Given the description of an element on the screen output the (x, y) to click on. 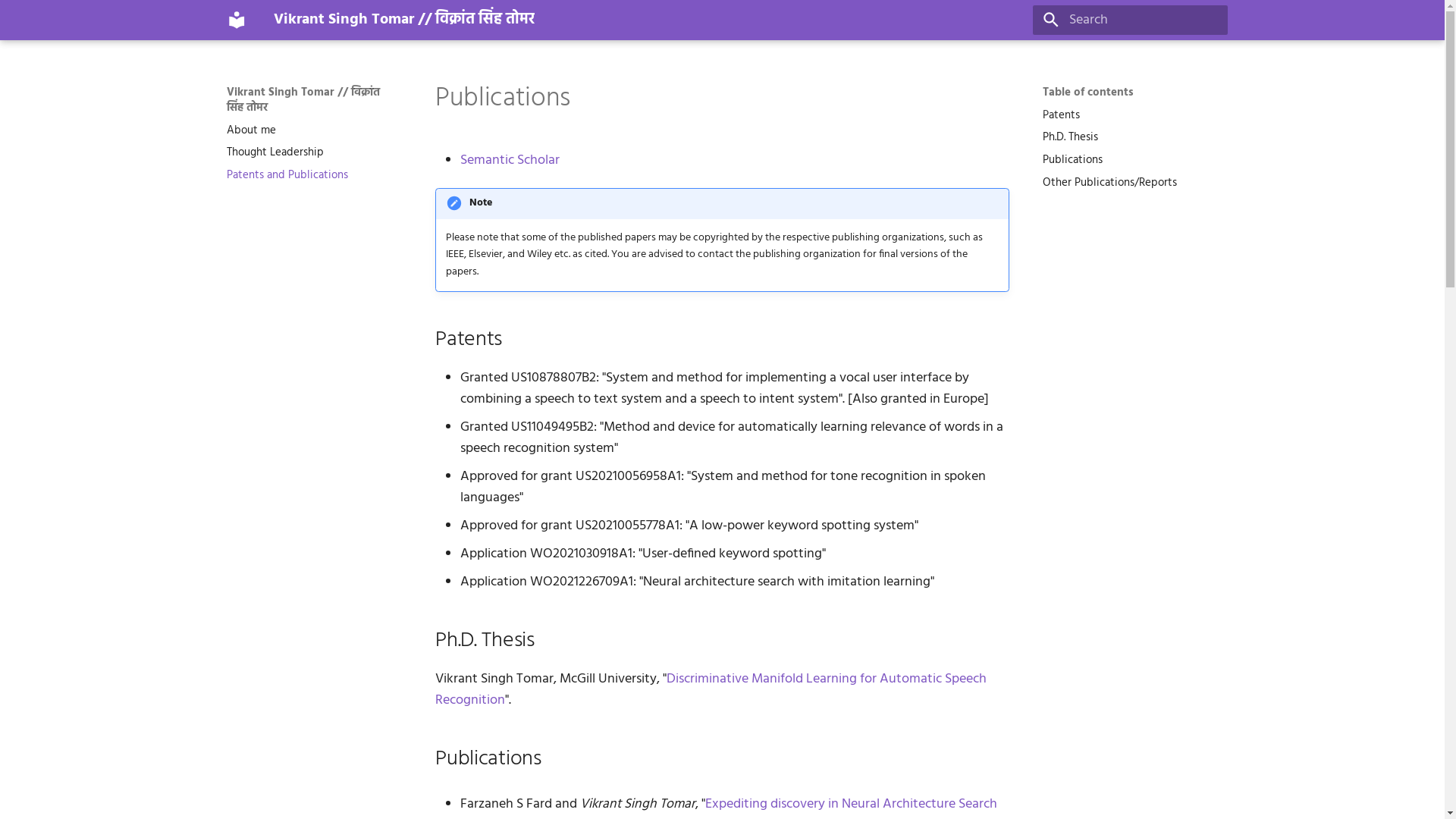
Thought Leadership Element type: text (312, 152)
Semantic Scholar Element type: text (509, 160)
Publications Element type: text (1128, 159)
Patents and Publications Element type: text (312, 174)
Other Publications/Reports Element type: text (1128, 182)
Ph.D. Thesis Element type: text (1128, 136)
Patents Element type: text (1128, 114)
About me Element type: text (312, 130)
